Given the description of an element on the screen output the (x, y) to click on. 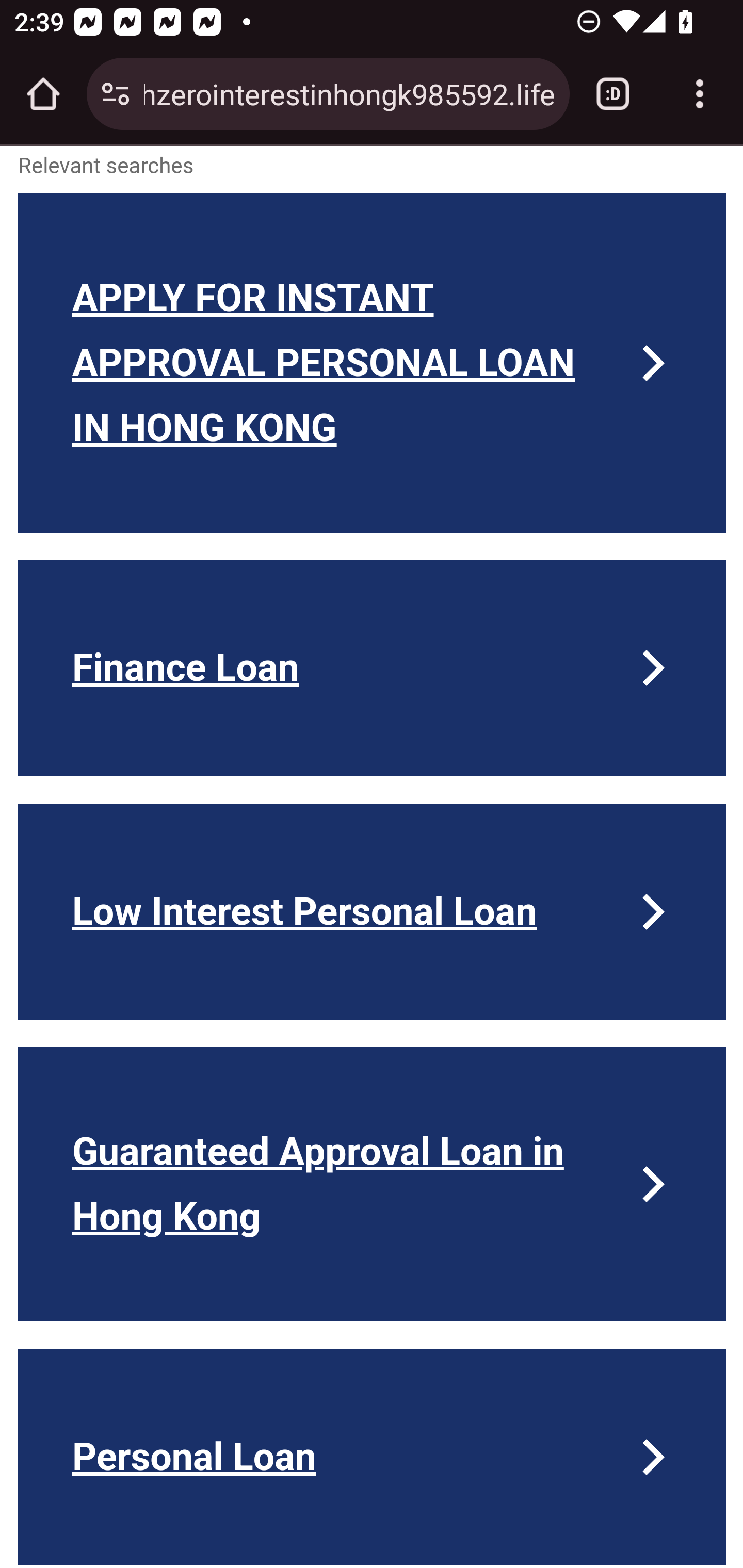
Open the home page (43, 93)
Connection is secure (115, 93)
Switch or close tabs (612, 93)
Customize and control Google Chrome (699, 93)
Finance Loan (372, 668)
Low Interest Personal Loan (372, 911)
Guaranteed Approval Loan in Hong Kong (372, 1184)
Personal Loan (372, 1456)
